Given the description of an element on the screen output the (x, y) to click on. 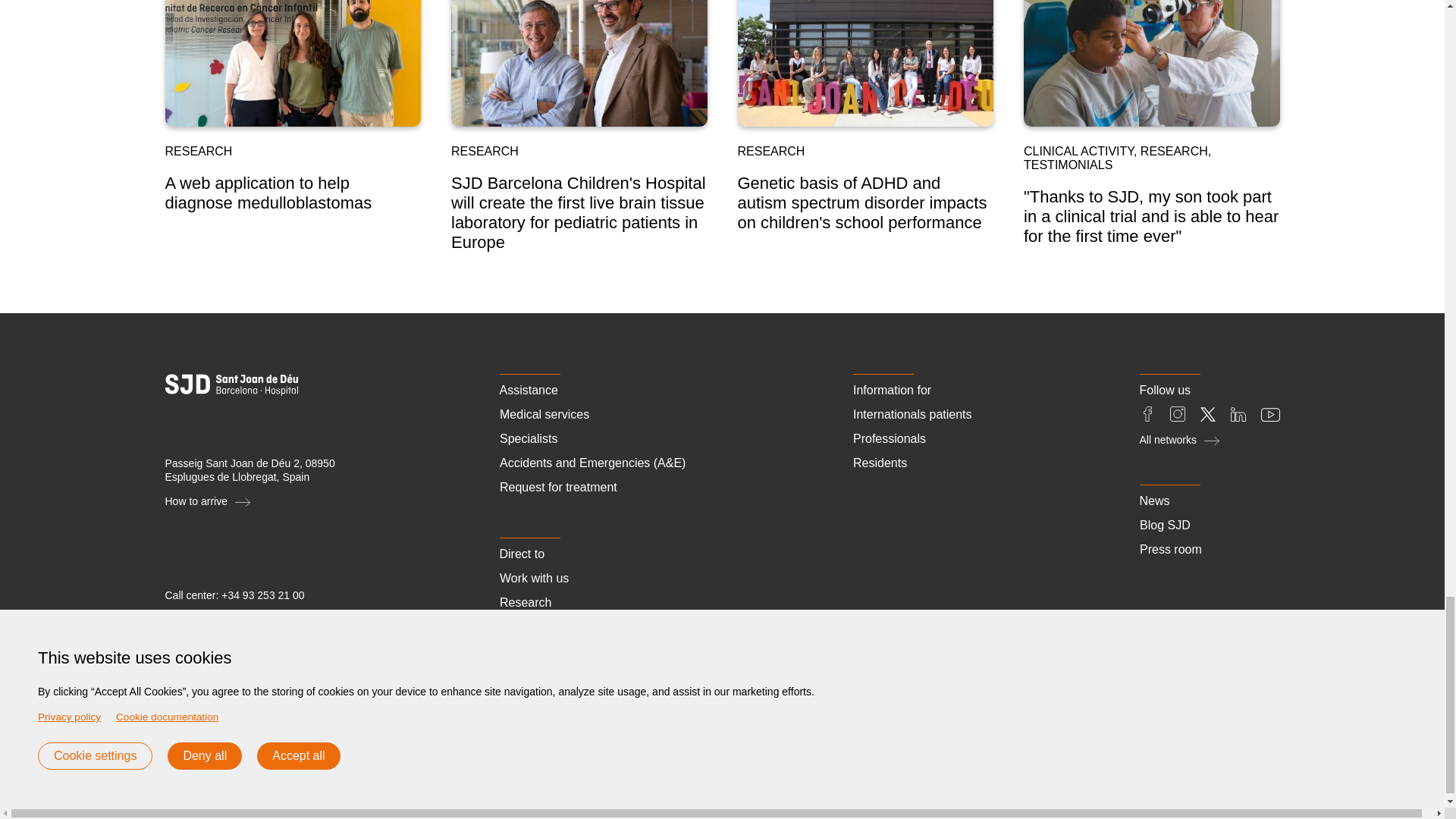
Dr. Oliver Haag examining his patient Aissam (1151, 63)
